Given the description of an element on the screen output the (x, y) to click on. 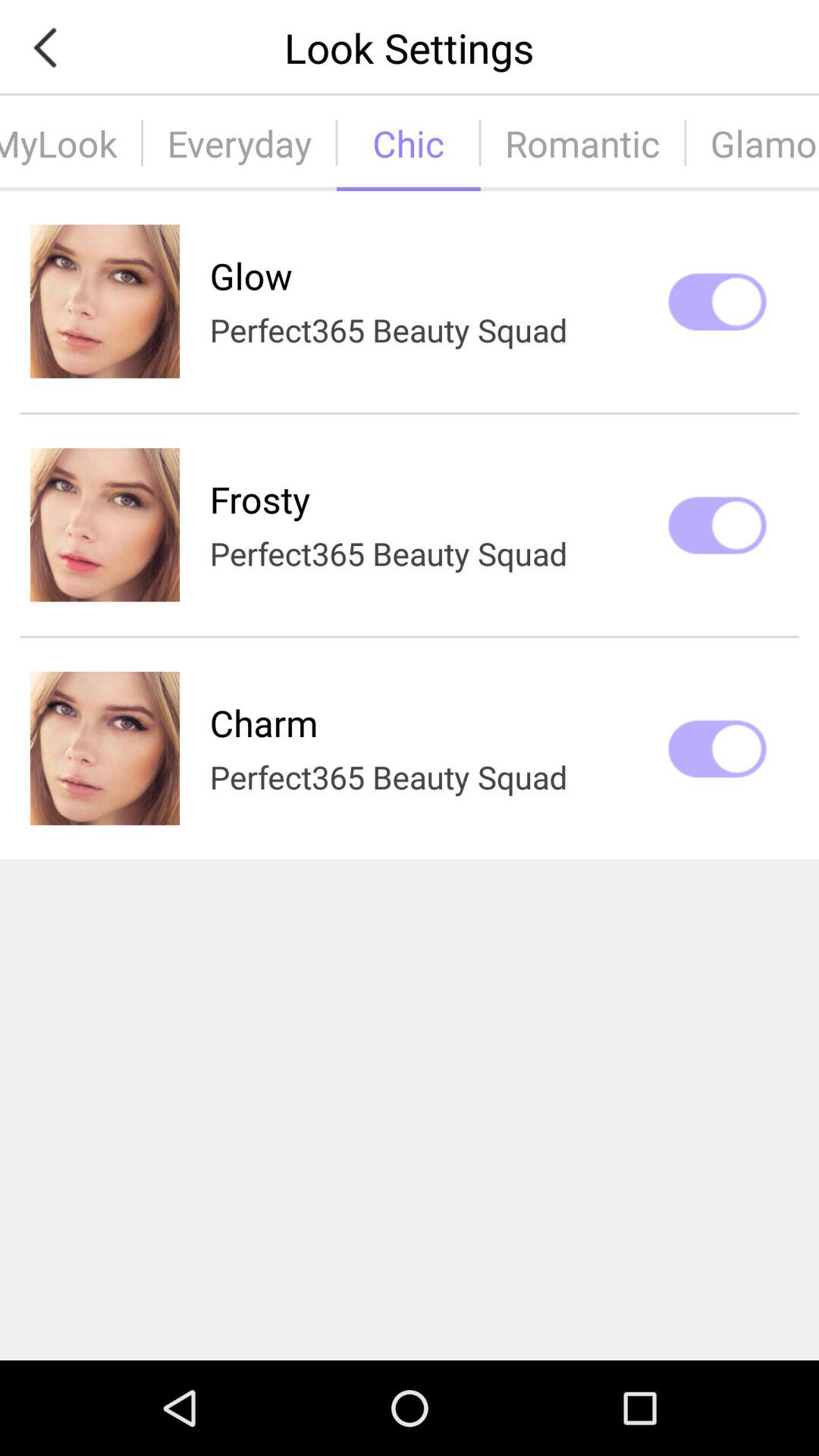
select the first image of the page (104, 301)
